Given the description of an element on the screen output the (x, y) to click on. 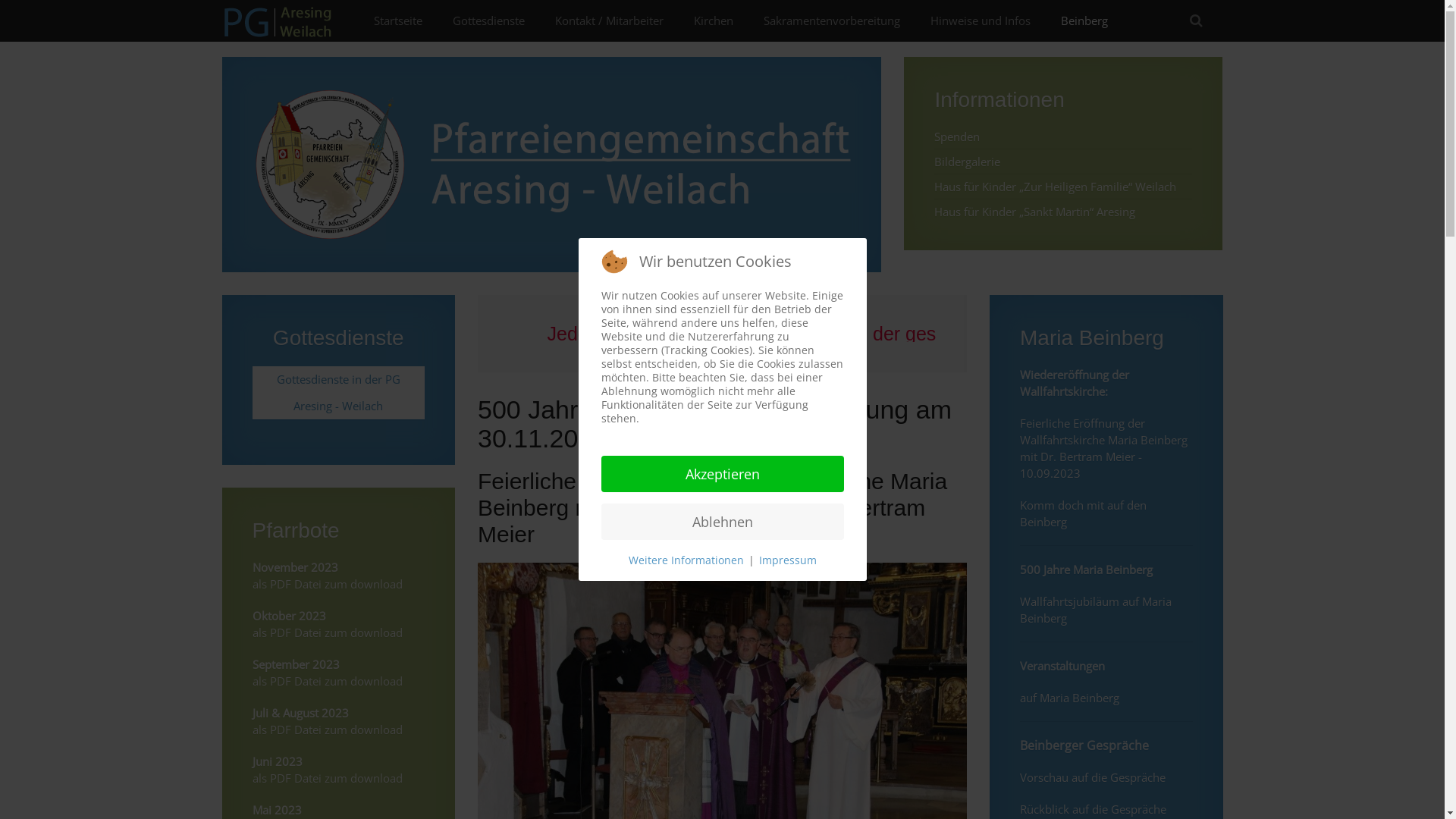
Ablehnen Element type: text (721, 521)
Weitere Informationen Element type: text (685, 559)
Kontakt / Mitarbeiter Element type: text (608, 20)
Bildergalerie Element type: text (967, 161)
als PDF Datei zum download Element type: text (326, 729)
als PDF Datei zum download Element type: text (326, 583)
Kirchen Element type: text (712, 20)
Beinberg Element type: text (1083, 20)
Gottesdienste in der PG Aresing - Weilach Element type: text (337, 392)
Gottesdienste in der PG Aresing - Weilach Element type: text (337, 390)
Komm doch mit auf den Beinberg Element type: text (1082, 513)
Pfarreiengemeinschaft Aresing - Weilach Element type: hover (550, 162)
Impressum Element type: text (786, 559)
Startseite Element type: text (396, 20)
Hinweise und Infos Element type: text (979, 20)
Gottesdienste Element type: text (487, 20)
als PDF Datei zum download Element type: text (326, 777)
Spenden Element type: text (956, 136)
auf Maria Beinberg Element type: text (1069, 697)
als PDF Datei zum download Element type: text (326, 680)
als PDF Datei zum download Element type: text (326, 632)
Sakramentenvorbereitung Element type: text (830, 20)
Akzeptieren Element type: text (721, 473)
